Given the description of an element on the screen output the (x, y) to click on. 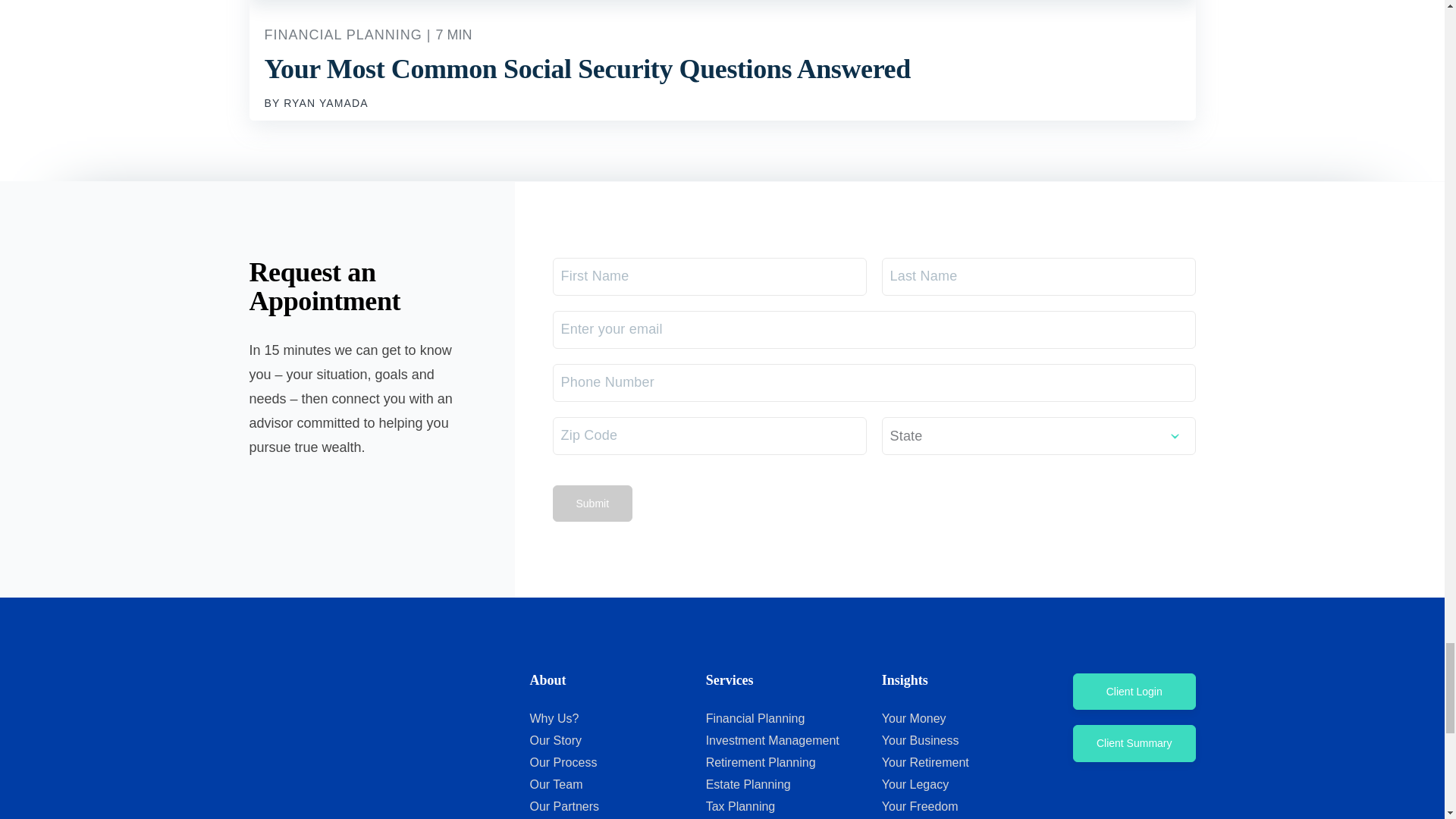
Submit (591, 503)
